Given the description of an element on the screen output the (x, y) to click on. 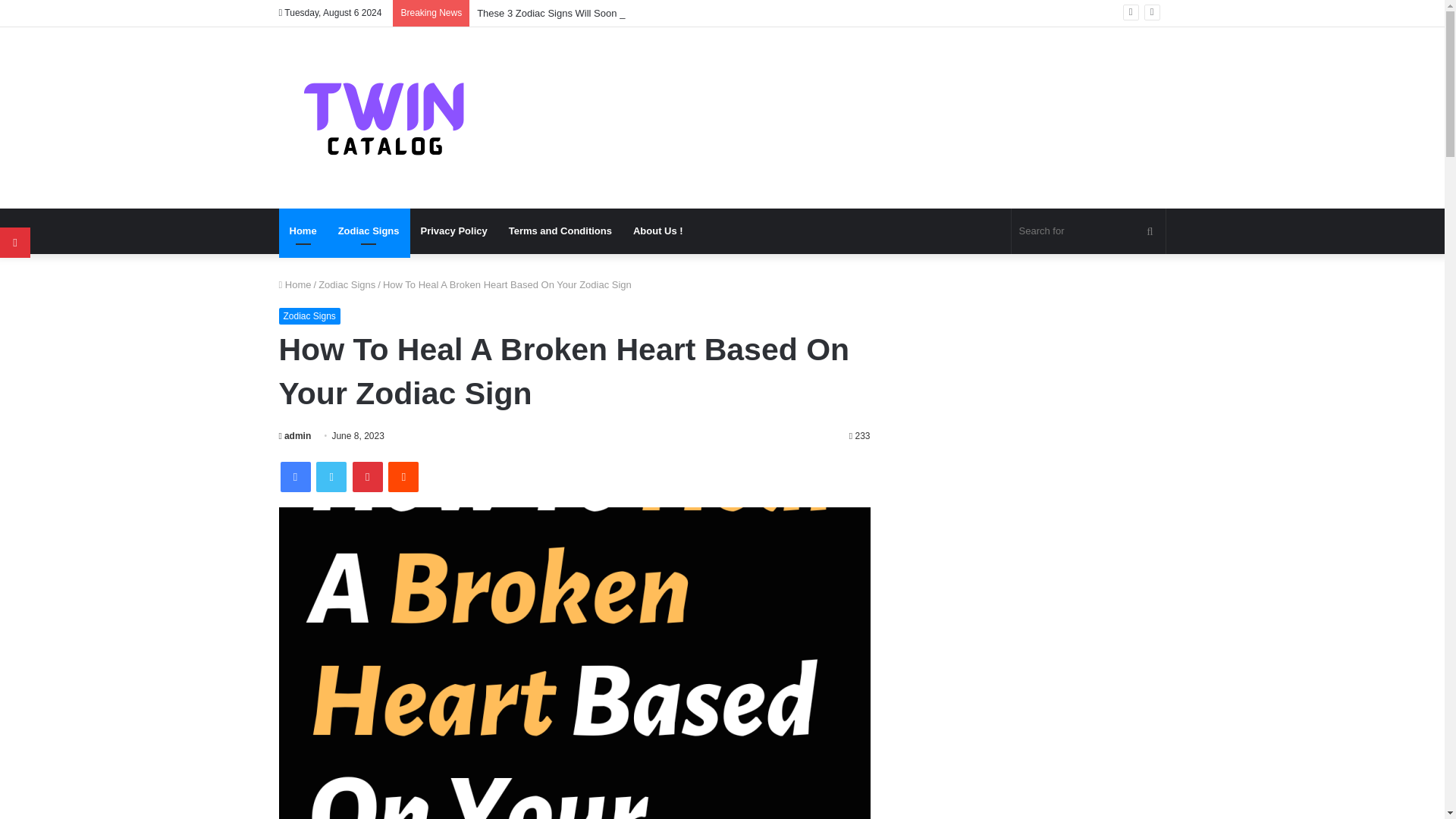
Pinterest (367, 476)
Terms and Conditions (560, 230)
Twitter (330, 476)
Zodiac Signs (368, 230)
About Us ! (658, 230)
Reddit (403, 476)
Twitter (330, 476)
Privacy Policy (453, 230)
Zodiac Signs (346, 284)
